Given the description of an element on the screen output the (x, y) to click on. 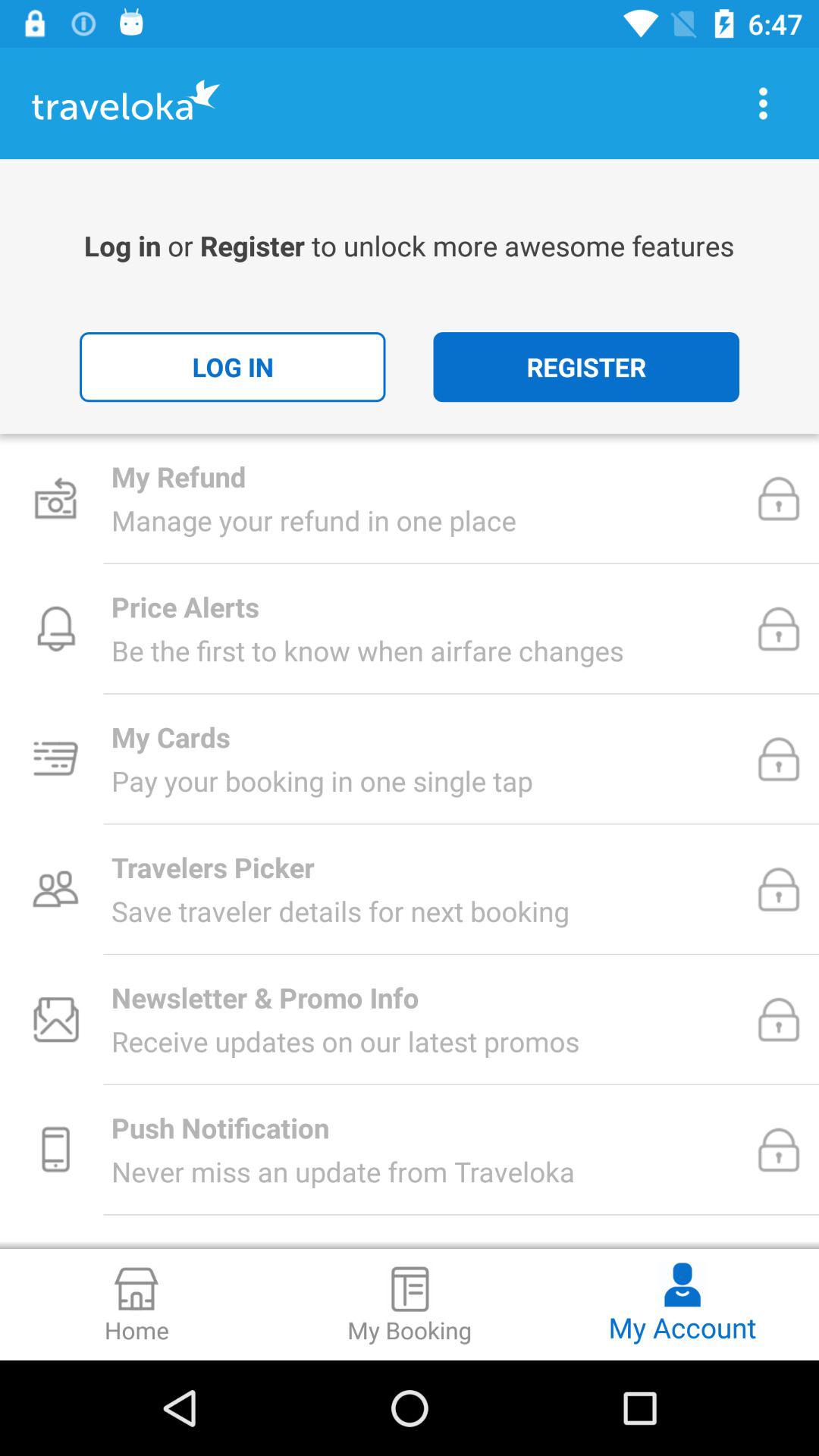
settings button (763, 103)
